Given the description of an element on the screen output the (x, y) to click on. 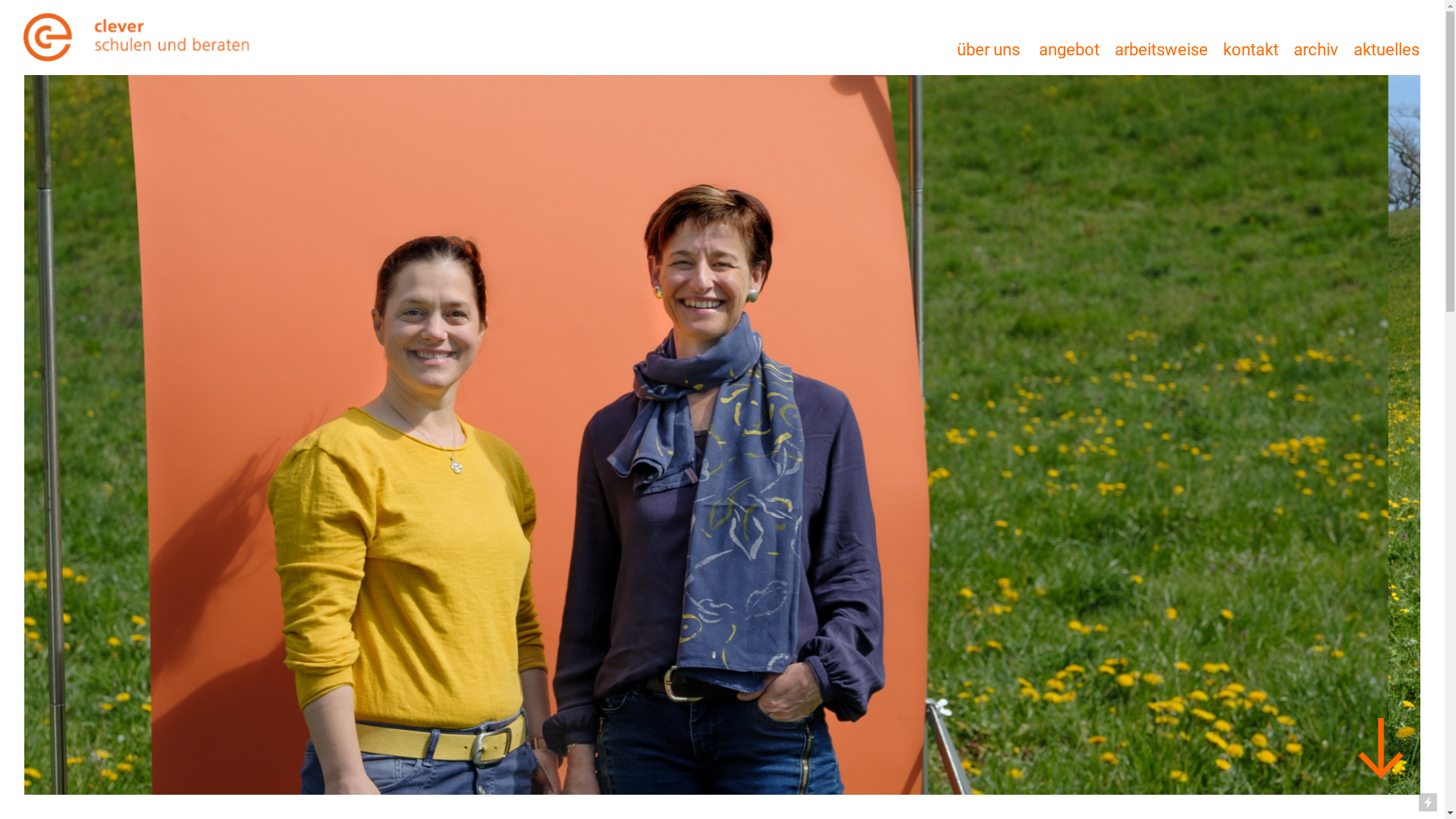
archiv Element type: text (1315, 50)
kontakt Element type: text (1250, 50)
angebot Element type: text (1068, 50)
aktuelles Element type: text (1386, 50)
arbeitsweise Element type: text (1161, 50)
